Given the description of an element on the screen output the (x, y) to click on. 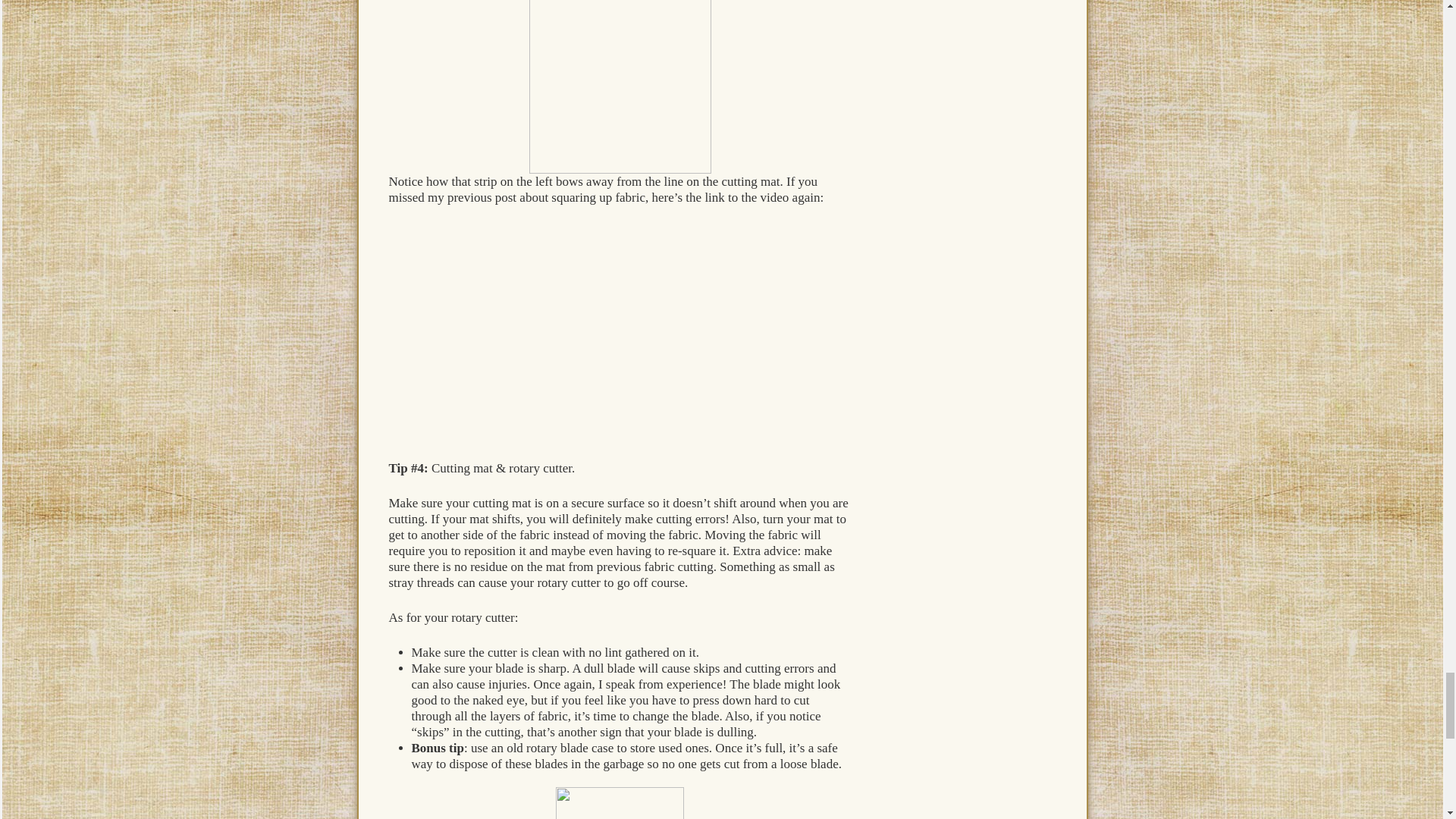
Squaring Up Fabric (577, 330)
